Given the description of an element on the screen output the (x, y) to click on. 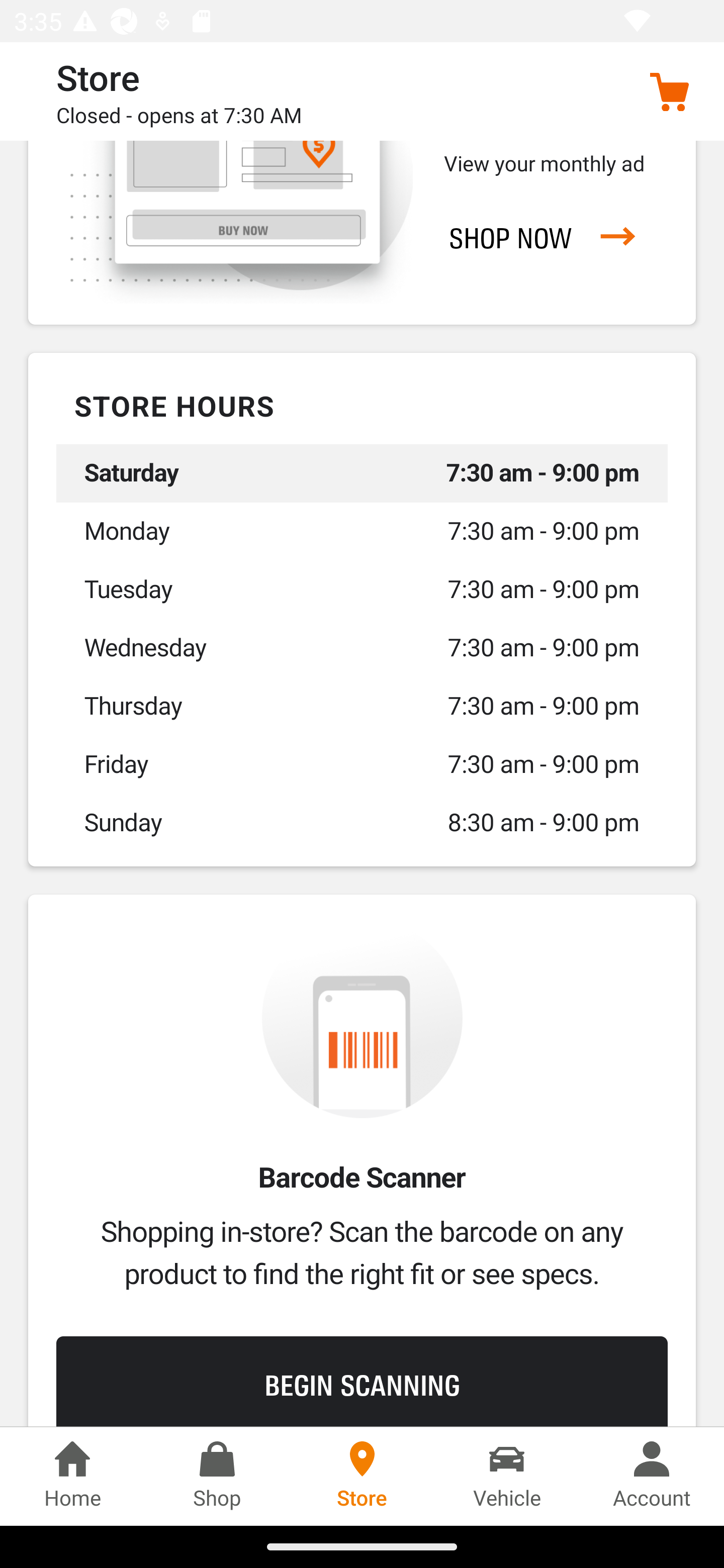
BEGIN SCANNING (361, 1380)
Home (72, 1475)
Shop (216, 1475)
Store (361, 1475)
Vehicle (506, 1475)
Account (651, 1475)
